Given the description of an element on the screen output the (x, y) to click on. 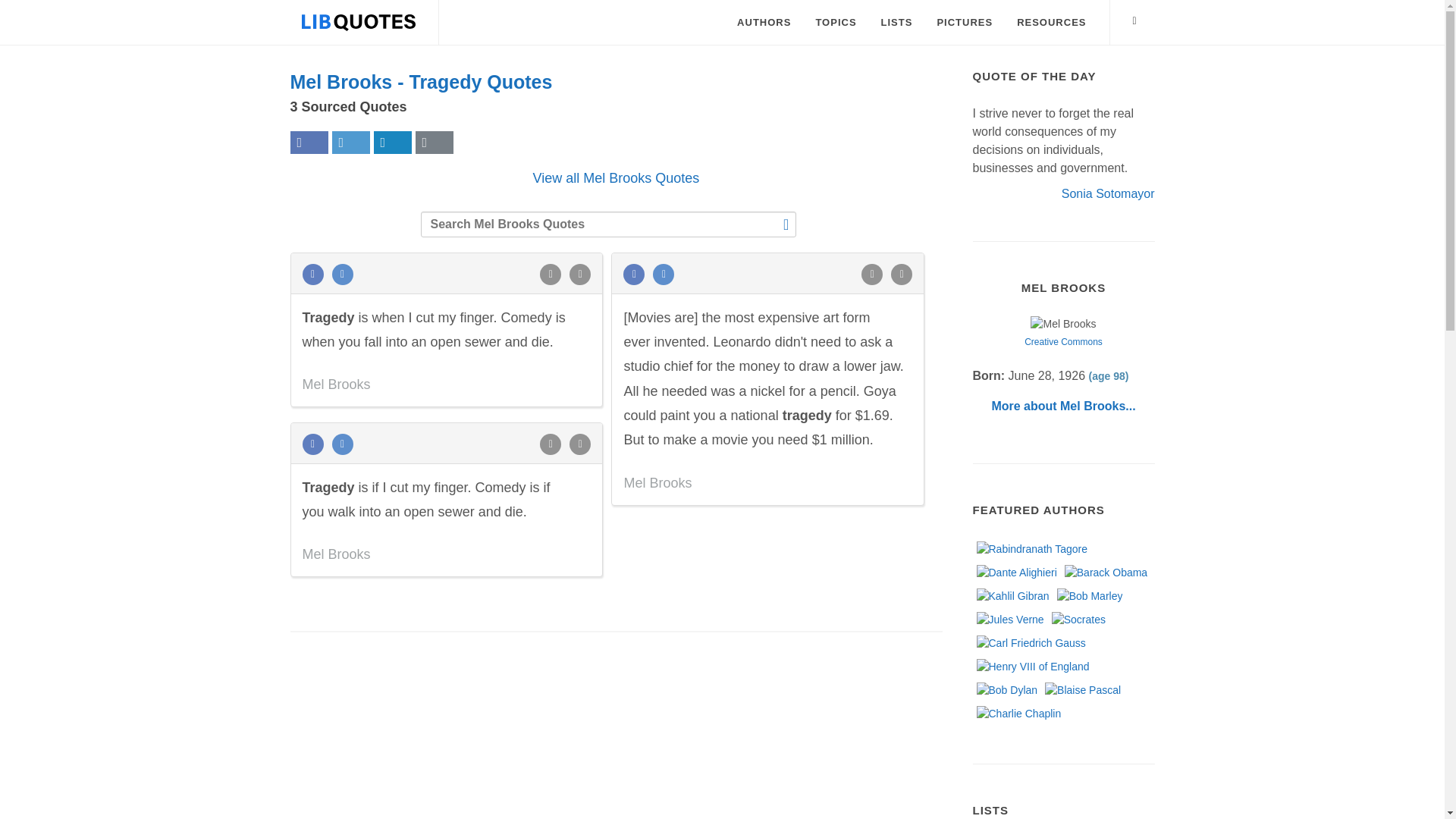
View all Mel Brooks Quotes (616, 177)
TOPICS (835, 22)
RESOURCES (1051, 22)
AUTHORS (763, 22)
PICTURES (964, 22)
More about Mel Brooks... (1063, 405)
LISTS (896, 22)
Sonia Sotomayor (1107, 192)
